Given the description of an element on the screen output the (x, y) to click on. 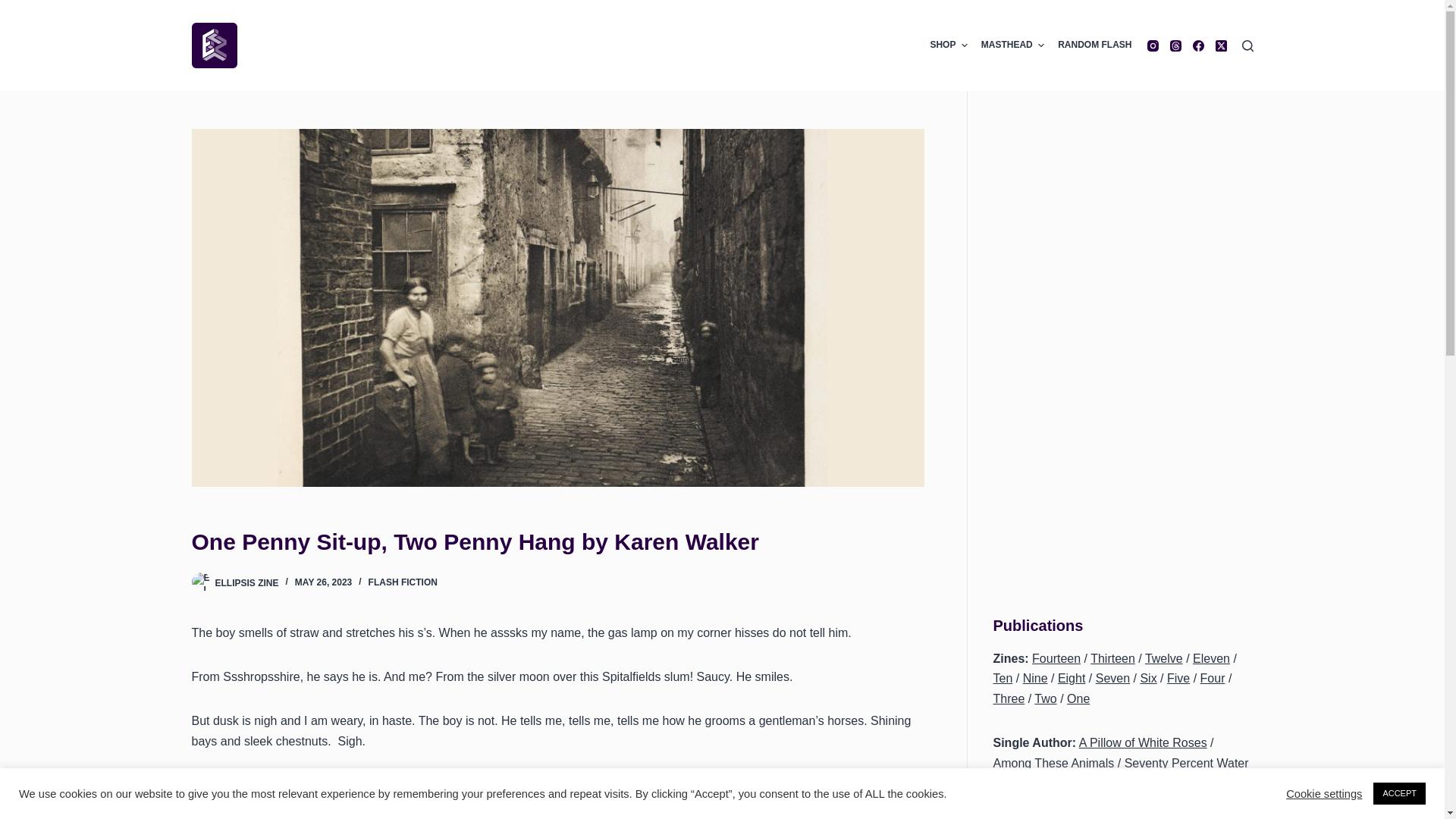
Posts by Ellipsis Zine (247, 582)
Advertisement (1122, 234)
ELLIPSIS ZINE (247, 582)
FLASH FICTION (403, 582)
Skip to content (15, 7)
Advertisement (1122, 477)
One Penny Sit-up, Two Penny Hang by Karen Walker (556, 541)
